Given the description of an element on the screen output the (x, y) to click on. 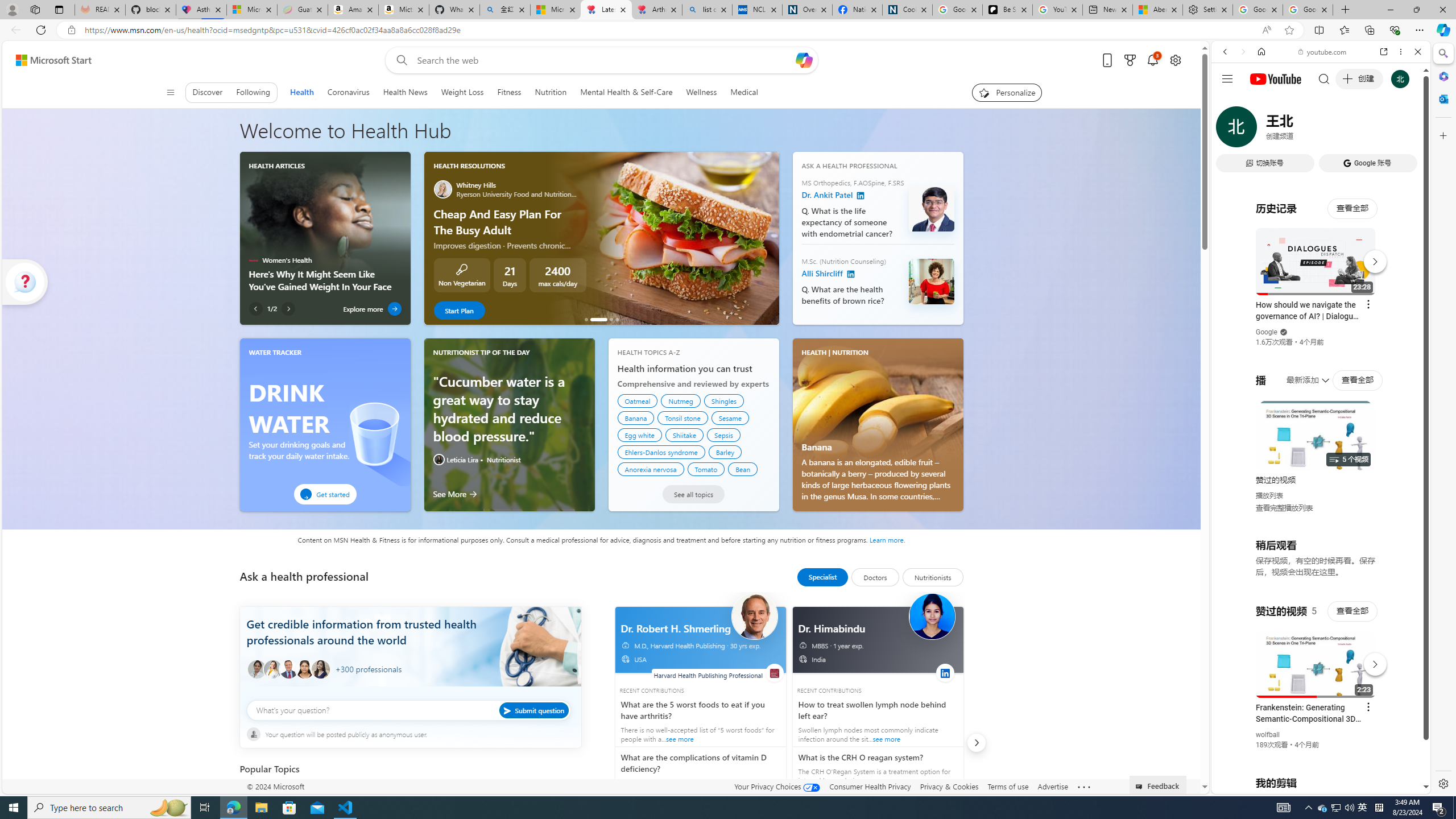
Your Privacy Choices (777, 786)
7 Days Cardioprotective Vegan Diet Plan (585, 319)
Banana (877, 402)
Wellness (700, 92)
Get started (325, 494)
Anorexia nervosa (650, 468)
Banana (636, 418)
Preferences (1403, 129)
Health News (404, 92)
Microsoft-Report a Concern to Bing (251, 9)
